Given the description of an element on the screen output the (x, y) to click on. 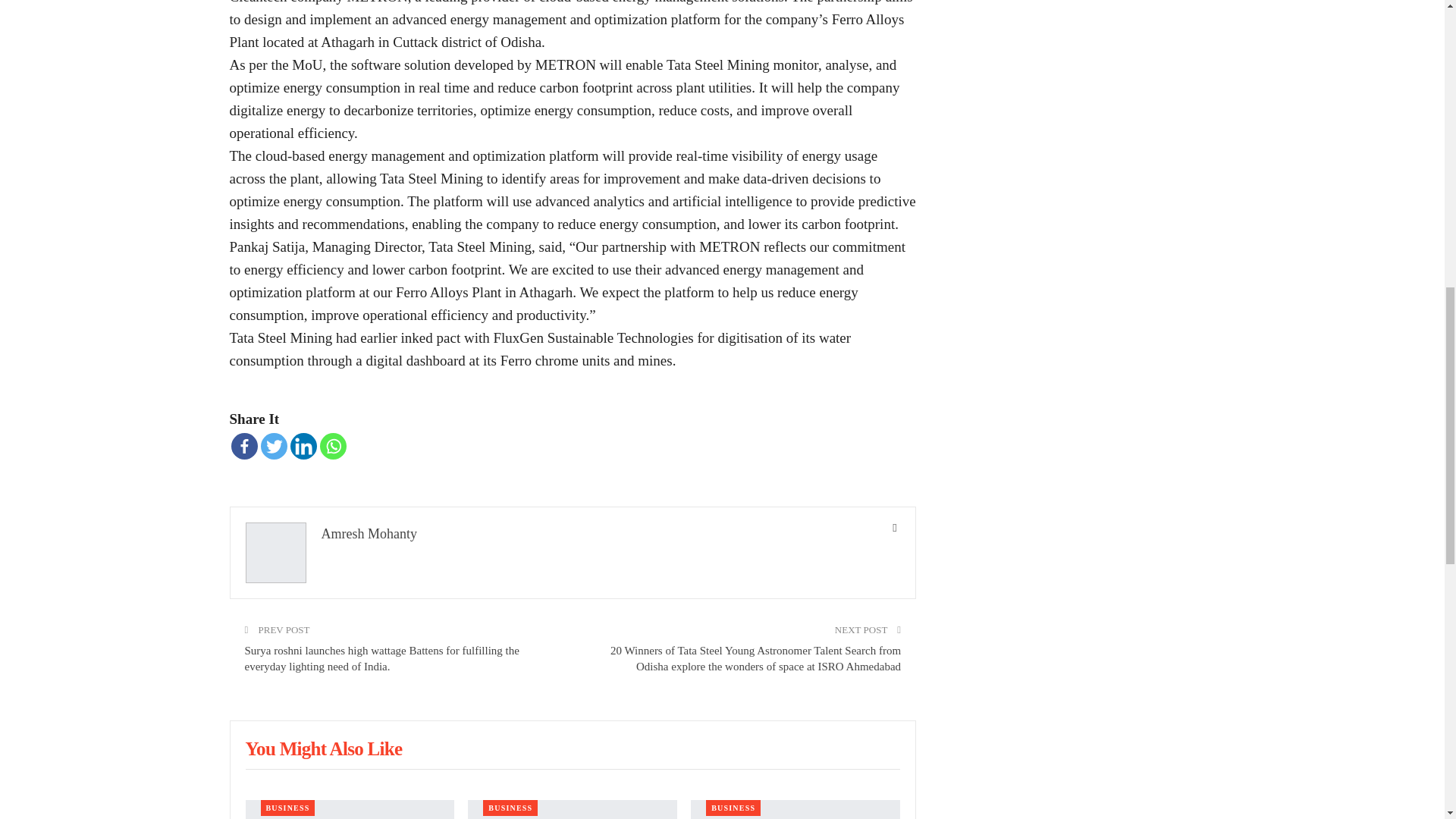
Facebook (243, 446)
Twitter (273, 446)
You Might Also Like (324, 750)
Linkedin (302, 446)
Whatsapp (333, 446)
THE ROYAL ENFIELD GUERRILLA 450 IS HERE! (350, 809)
Amresh Mohanty (368, 533)
BUSINESS (510, 807)
BUSINESS (733, 807)
BUSINESS (287, 807)
